Given the description of an element on the screen output the (x, y) to click on. 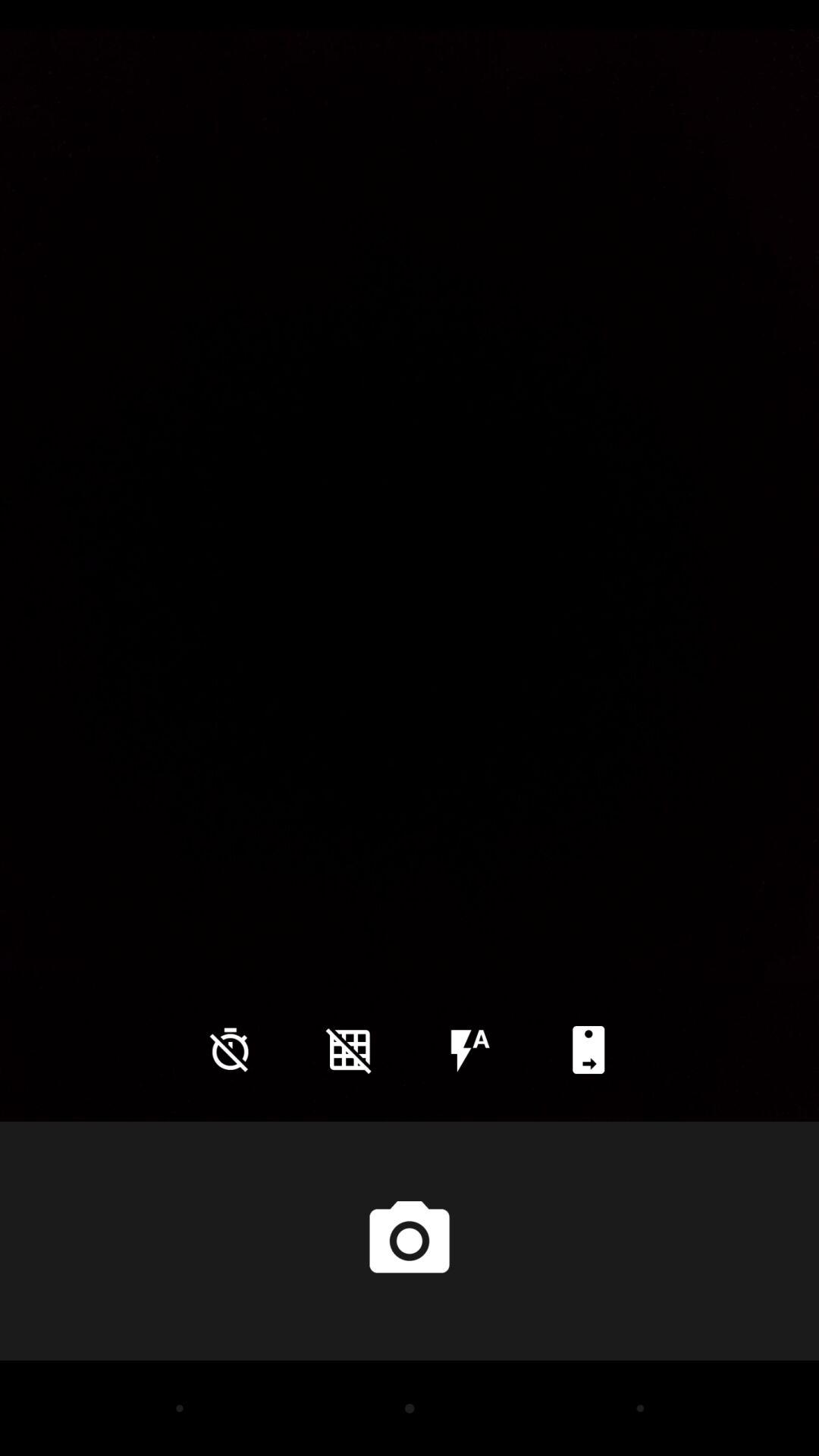
click item at the bottom left corner (230, 1049)
